Given the description of an element on the screen output the (x, y) to click on. 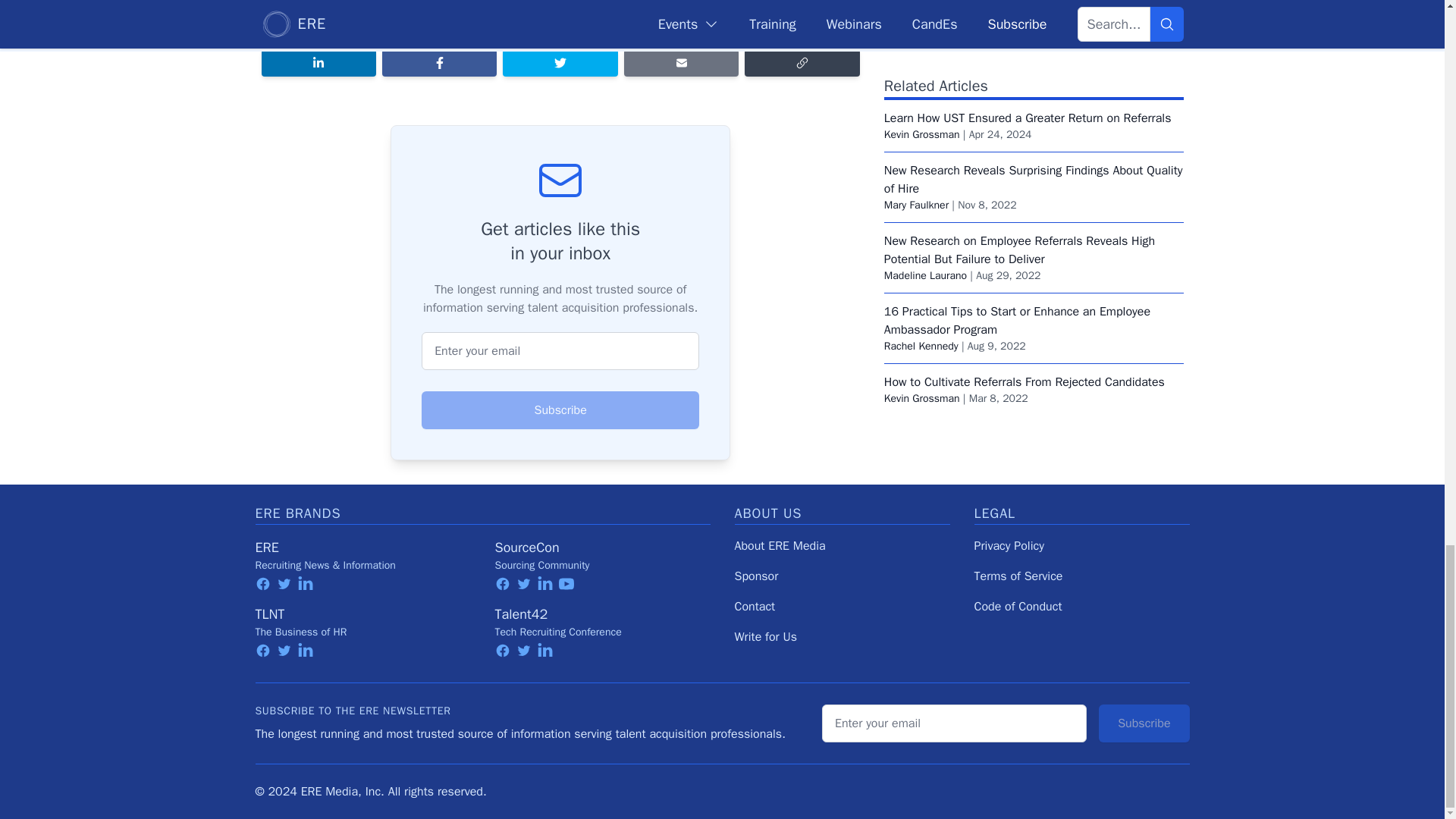
Mary Faulkner (916, 80)
Kevin Grossman (921, 10)
Rachel Kennedy (920, 221)
Subscribe (560, 410)
Madeline Laurano (924, 151)
